Given the description of an element on the screen output the (x, y) to click on. 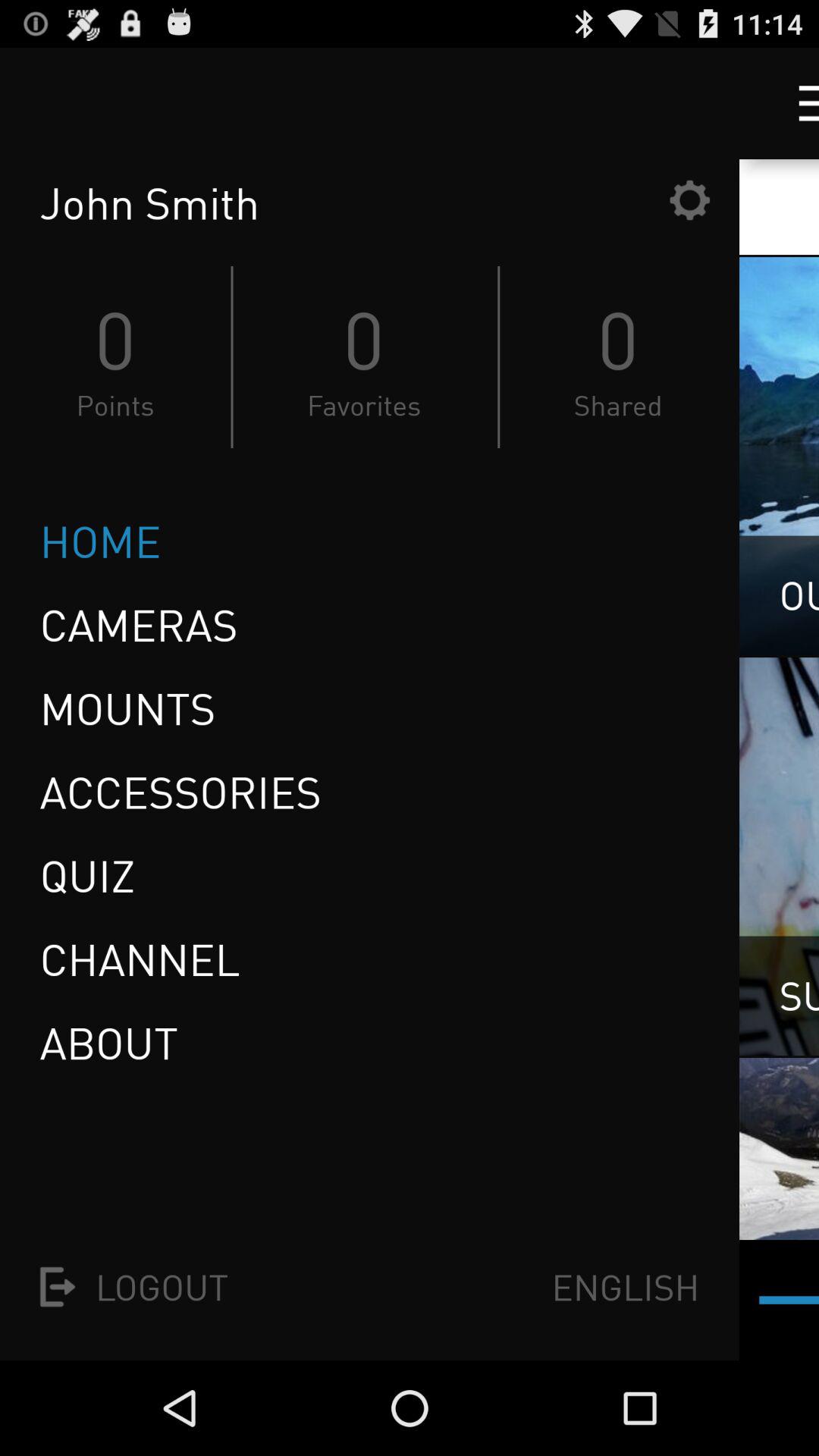
see settings (689, 199)
